Given the description of an element on the screen output the (x, y) to click on. 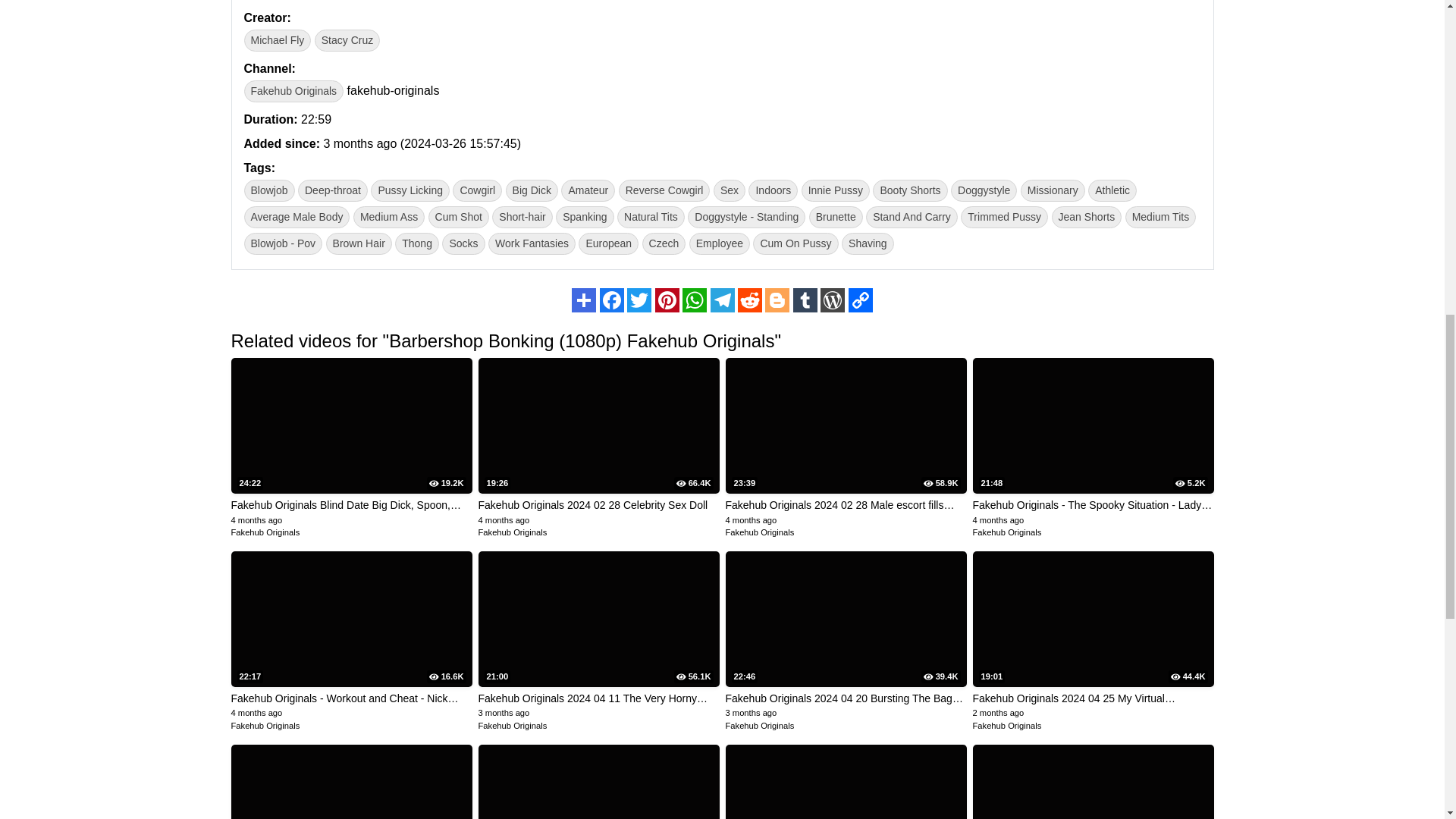
Natural Tits (650, 217)
Doggystyle - Standing (746, 217)
Michael Fly (277, 40)
Short-hair (521, 217)
Cum Shot (458, 217)
Stand And Carry (912, 217)
Deep-throat (333, 190)
Brunette (836, 217)
Spanking (584, 217)
Stacy Cruz (347, 40)
Jean Shorts (1086, 217)
Booty Shorts (909, 190)
Doggystyle (983, 190)
Pussy Licking (410, 190)
Reverse Cowgirl (664, 190)
